Given the description of an element on the screen output the (x, y) to click on. 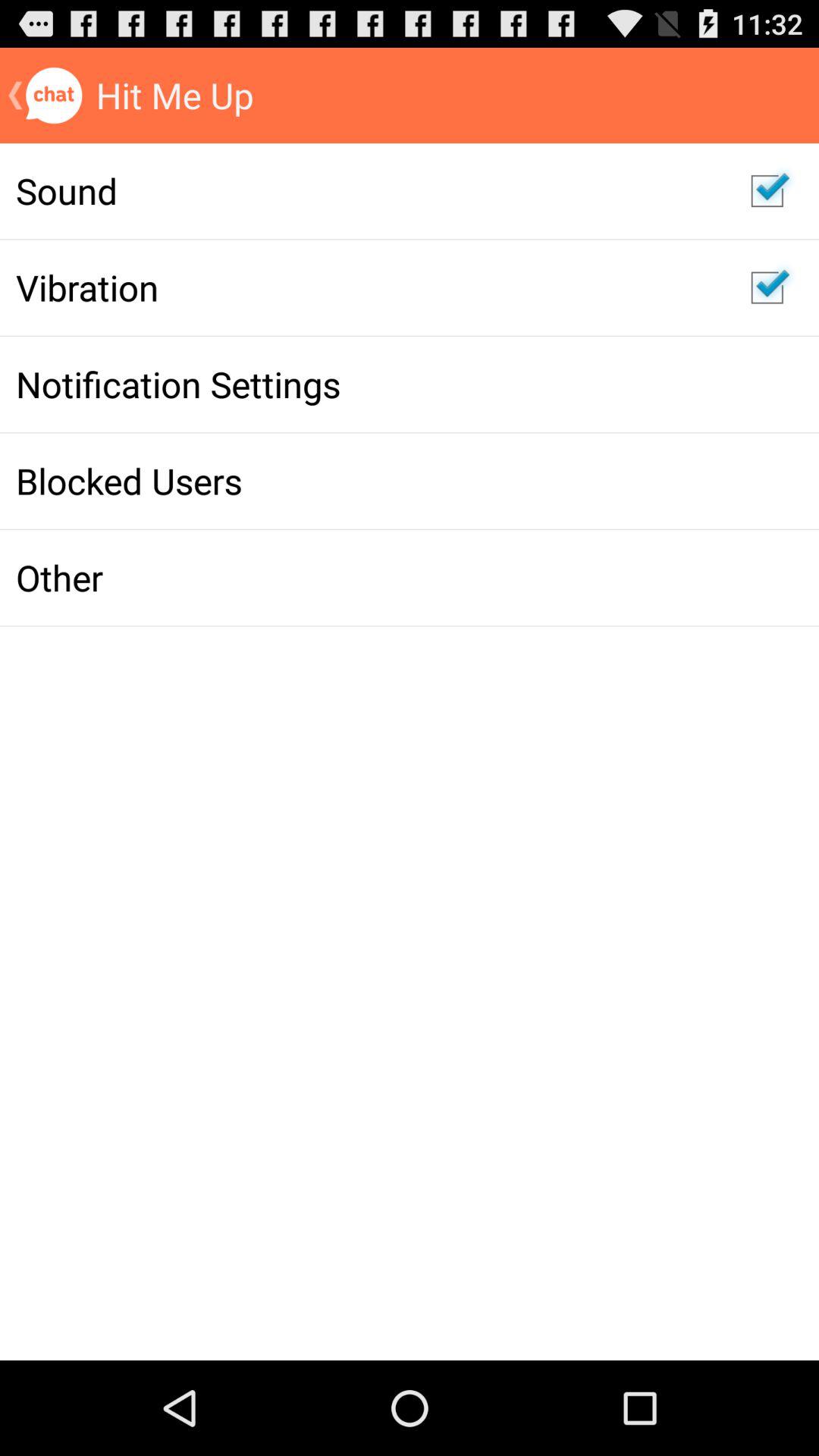
vibration checkbox (767, 287)
